Given the description of an element on the screen output the (x, y) to click on. 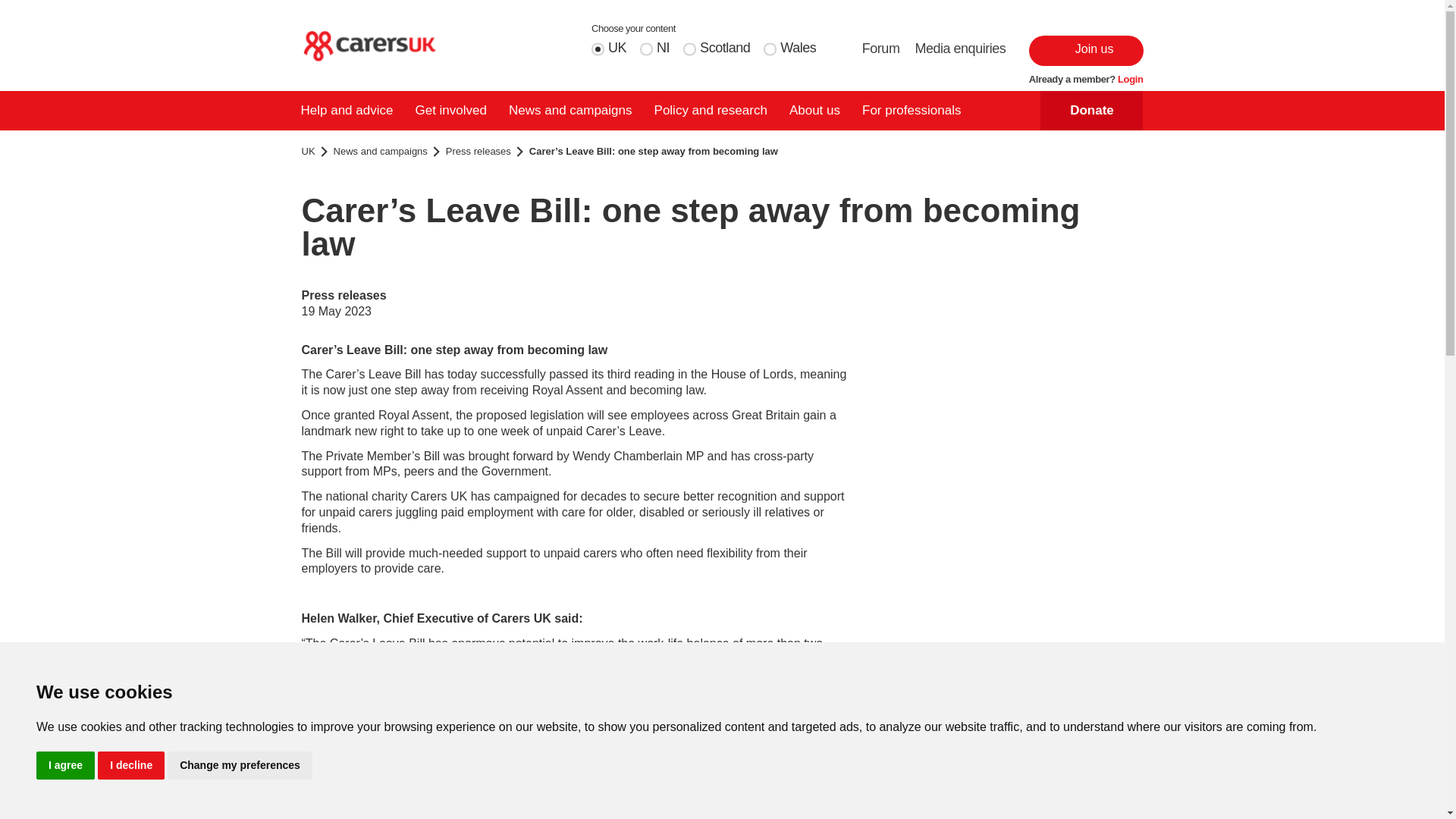
Change my preferences (240, 765)
I decline (130, 765)
I agree (65, 765)
